Given the description of an element on the screen output the (x, y) to click on. 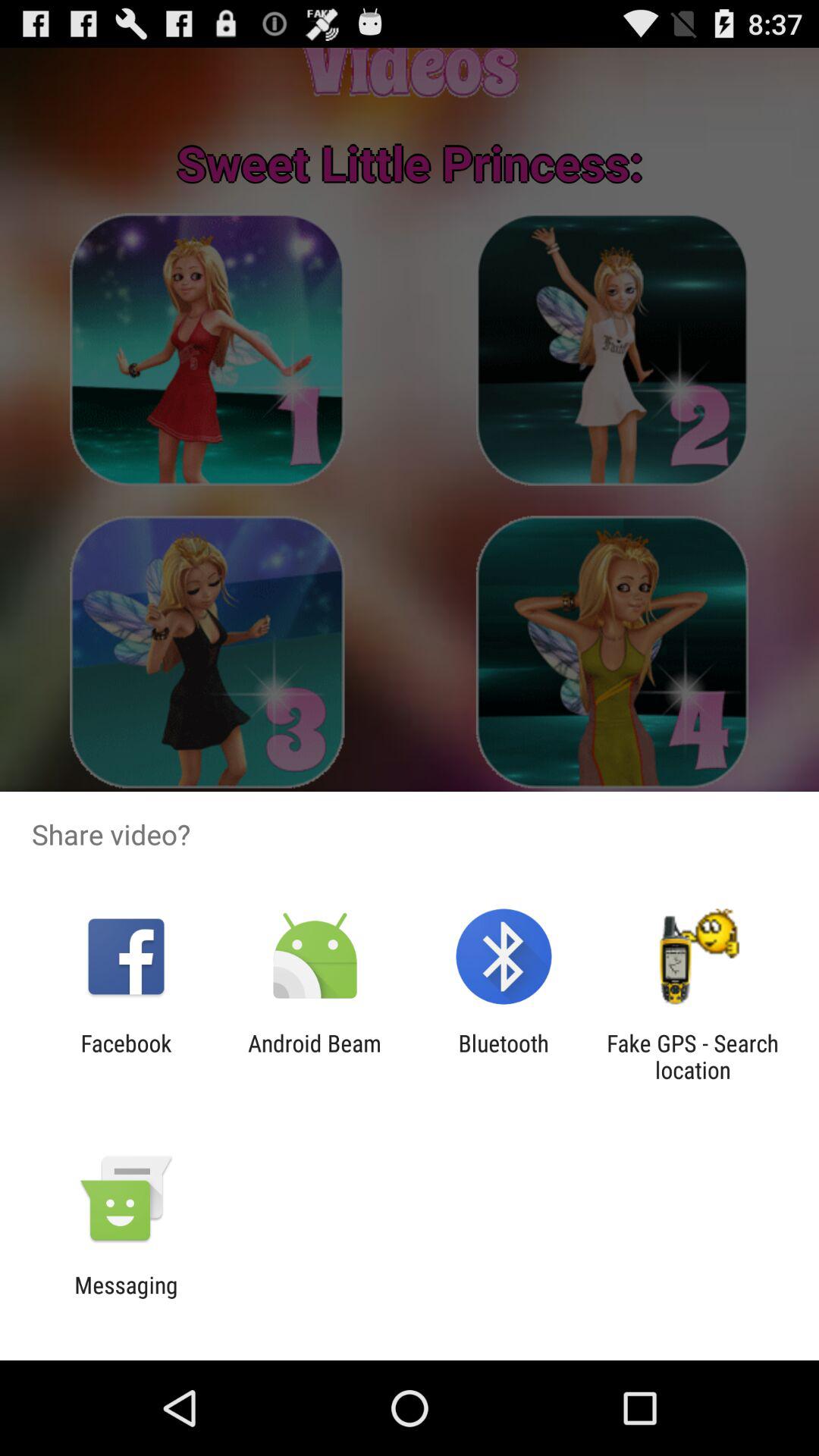
choose bluetooth (503, 1056)
